Given the description of an element on the screen output the (x, y) to click on. 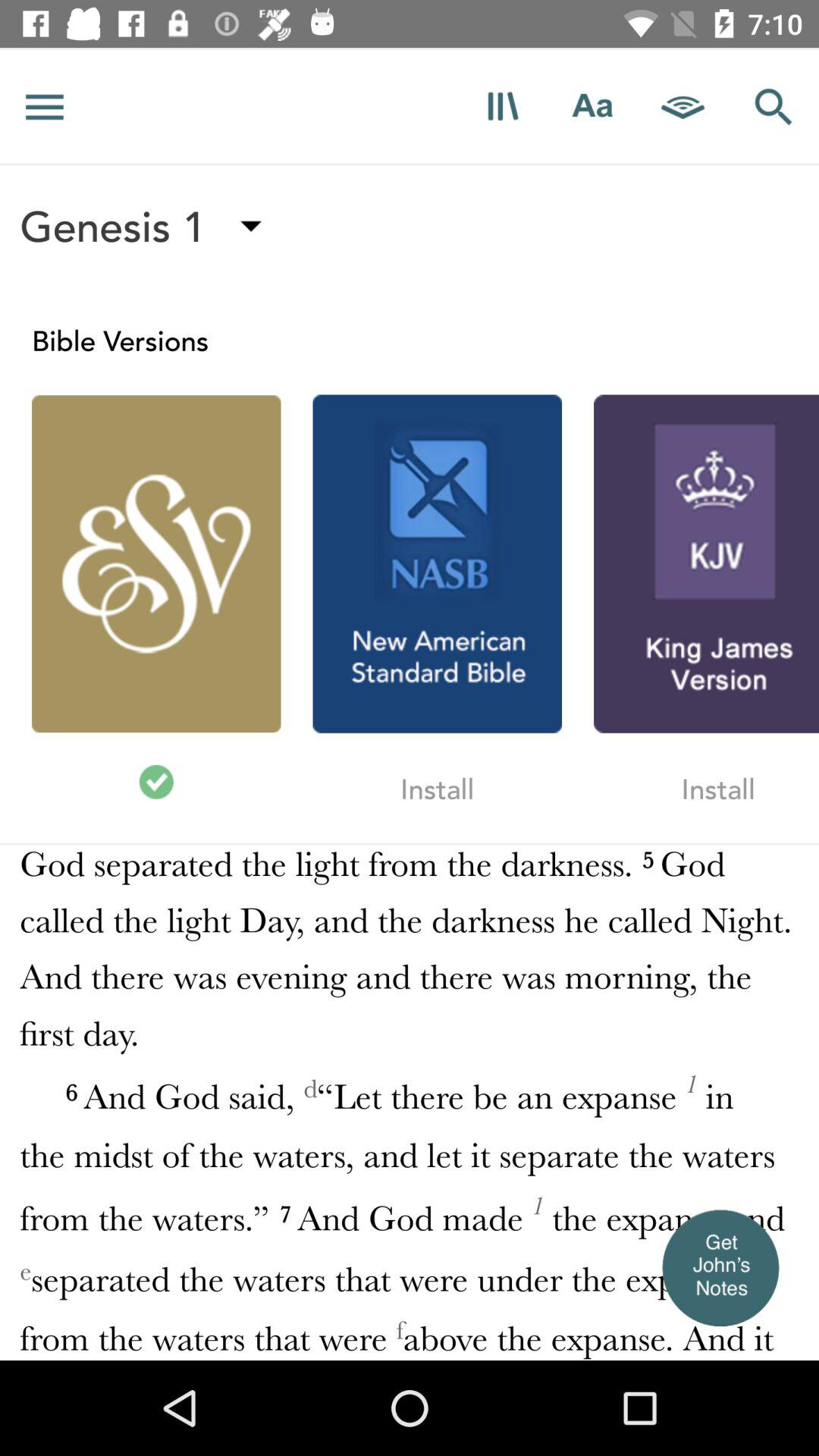
open more (502, 106)
